Given the description of an element on the screen output the (x, y) to click on. 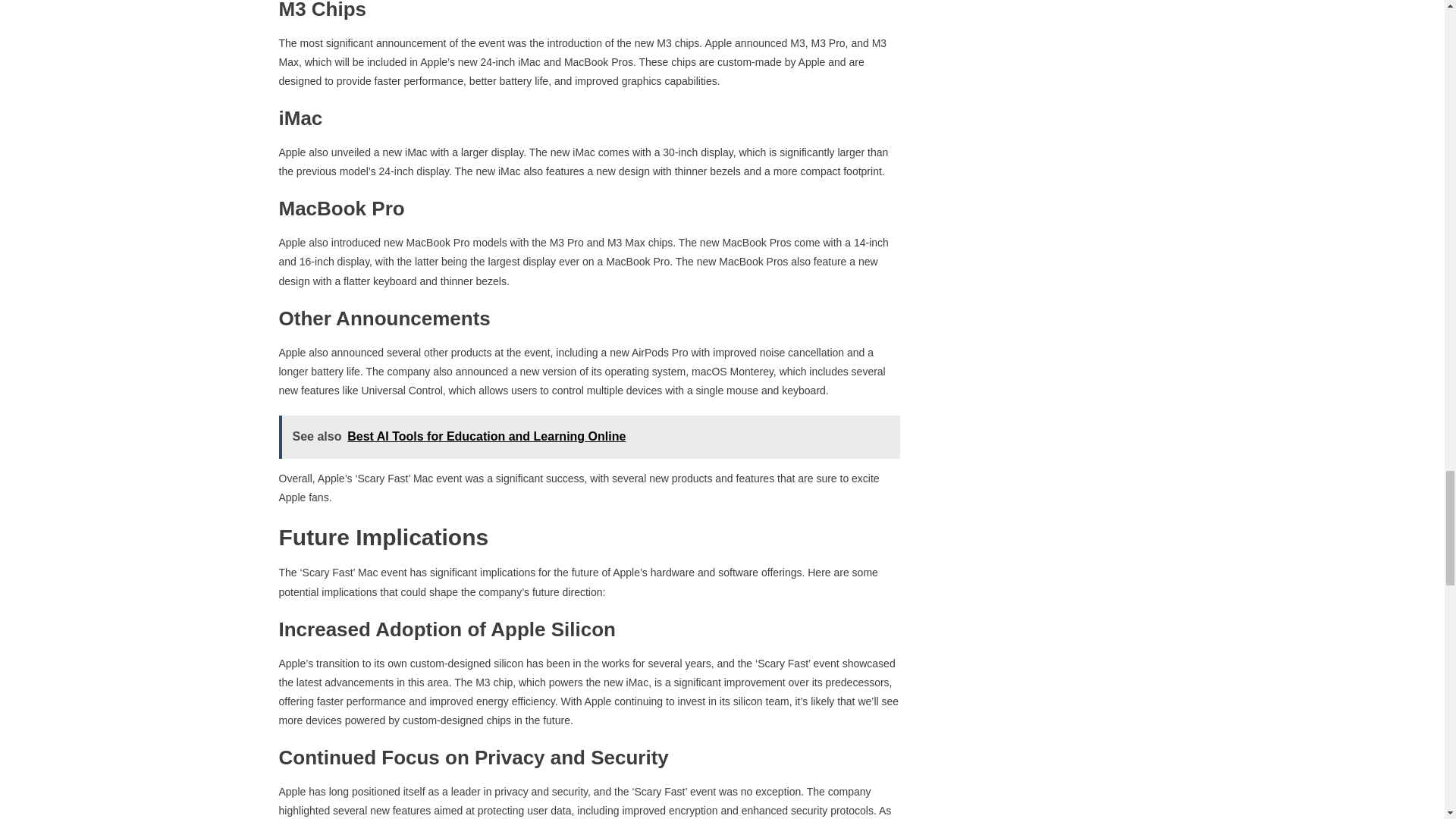
See also  Best AI Tools for Education and Learning Online (589, 436)
